Given the description of an element on the screen output the (x, y) to click on. 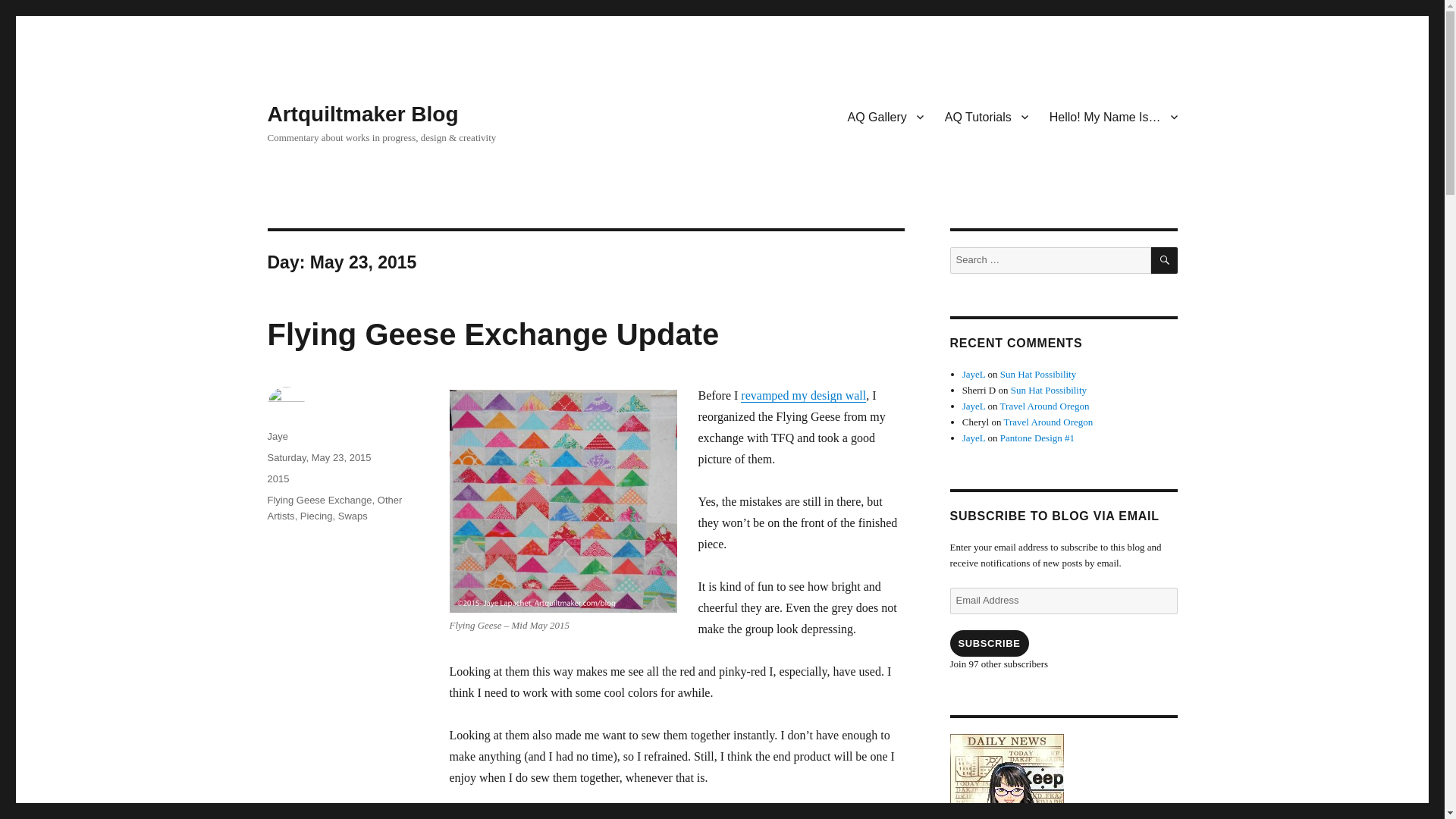
AQ Gallery (885, 116)
Artquiltmaker Blog (362, 114)
Jaye, Artquiltmaker.com (1062, 776)
